Given the description of an element on the screen output the (x, y) to click on. 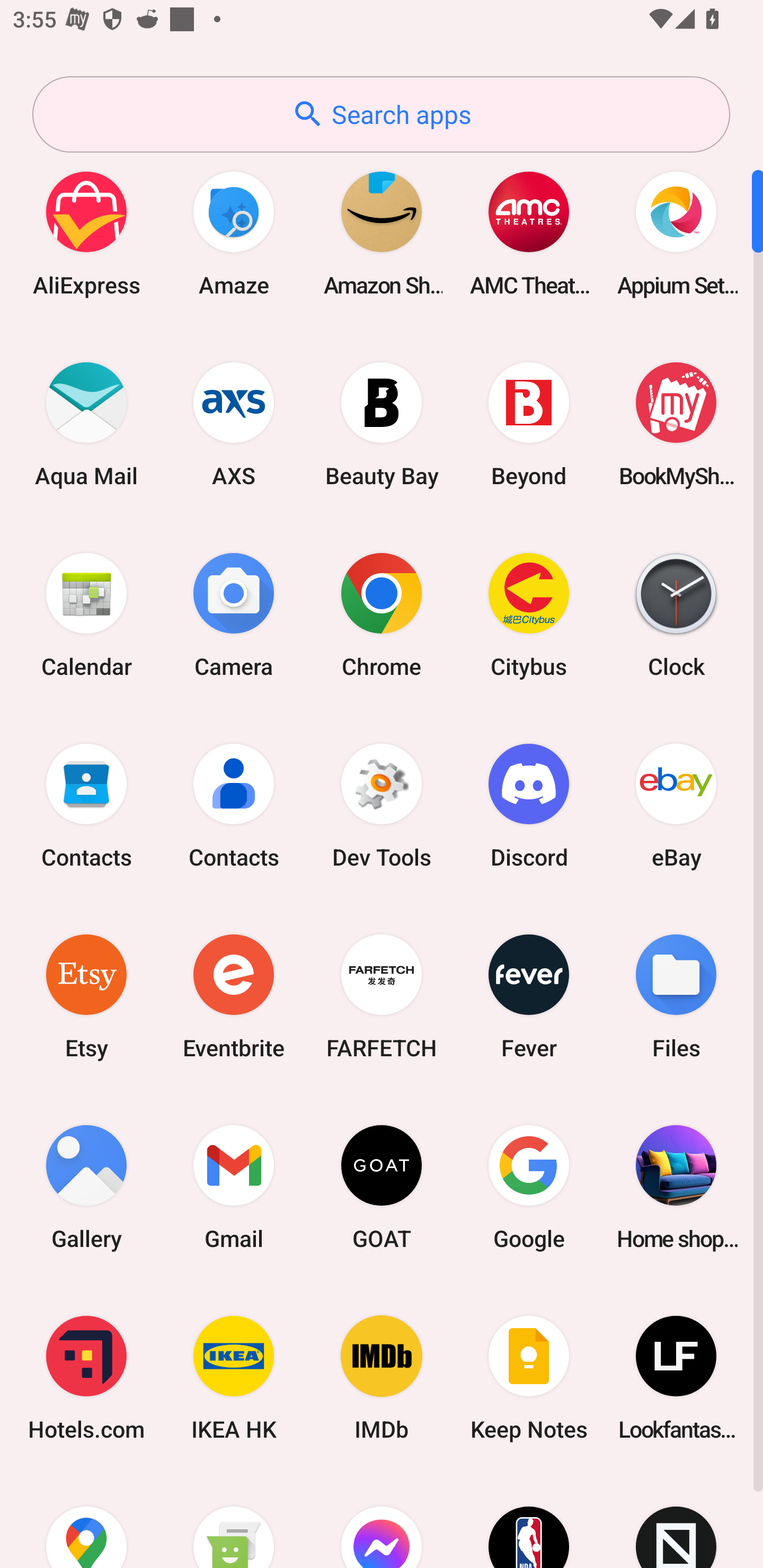
  Search apps (381, 114)
AliExpress (86, 233)
Amaze (233, 233)
Amazon Shopping (381, 233)
AMC Theatres (528, 233)
Appium Settings (676, 233)
Aqua Mail (86, 424)
AXS (233, 424)
Beauty Bay (381, 424)
Beyond (528, 424)
BookMyShow (676, 424)
Calendar (86, 614)
Camera (233, 614)
Chrome (381, 614)
Citybus (528, 614)
Clock (676, 614)
Contacts (86, 805)
Contacts (233, 805)
Dev Tools (381, 805)
Discord (528, 805)
eBay (676, 805)
Etsy (86, 996)
Eventbrite (233, 996)
FARFETCH (381, 996)
Fever (528, 996)
Files (676, 996)
Gallery (86, 1186)
Gmail (233, 1186)
GOAT (381, 1186)
Google (528, 1186)
Home shopping (676, 1186)
Hotels.com (86, 1377)
IKEA HK (233, 1377)
IMDb (381, 1377)
Keep Notes (528, 1377)
Lookfantastic (676, 1377)
Maps (86, 1520)
Messaging (233, 1520)
Messenger (381, 1520)
NBA (528, 1520)
Novelship (676, 1520)
